Given the description of an element on the screen output the (x, y) to click on. 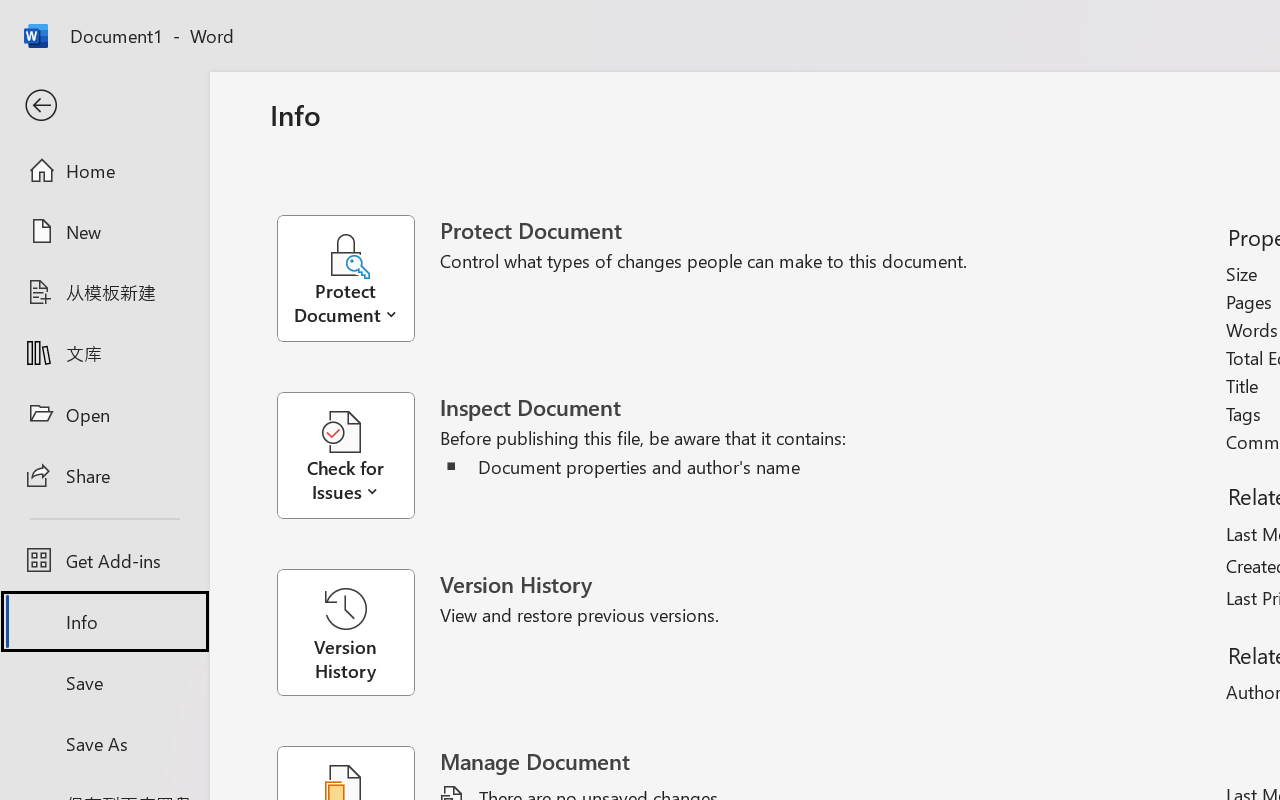
Check for Issues (358, 455)
